Given the description of an element on the screen output the (x, y) to click on. 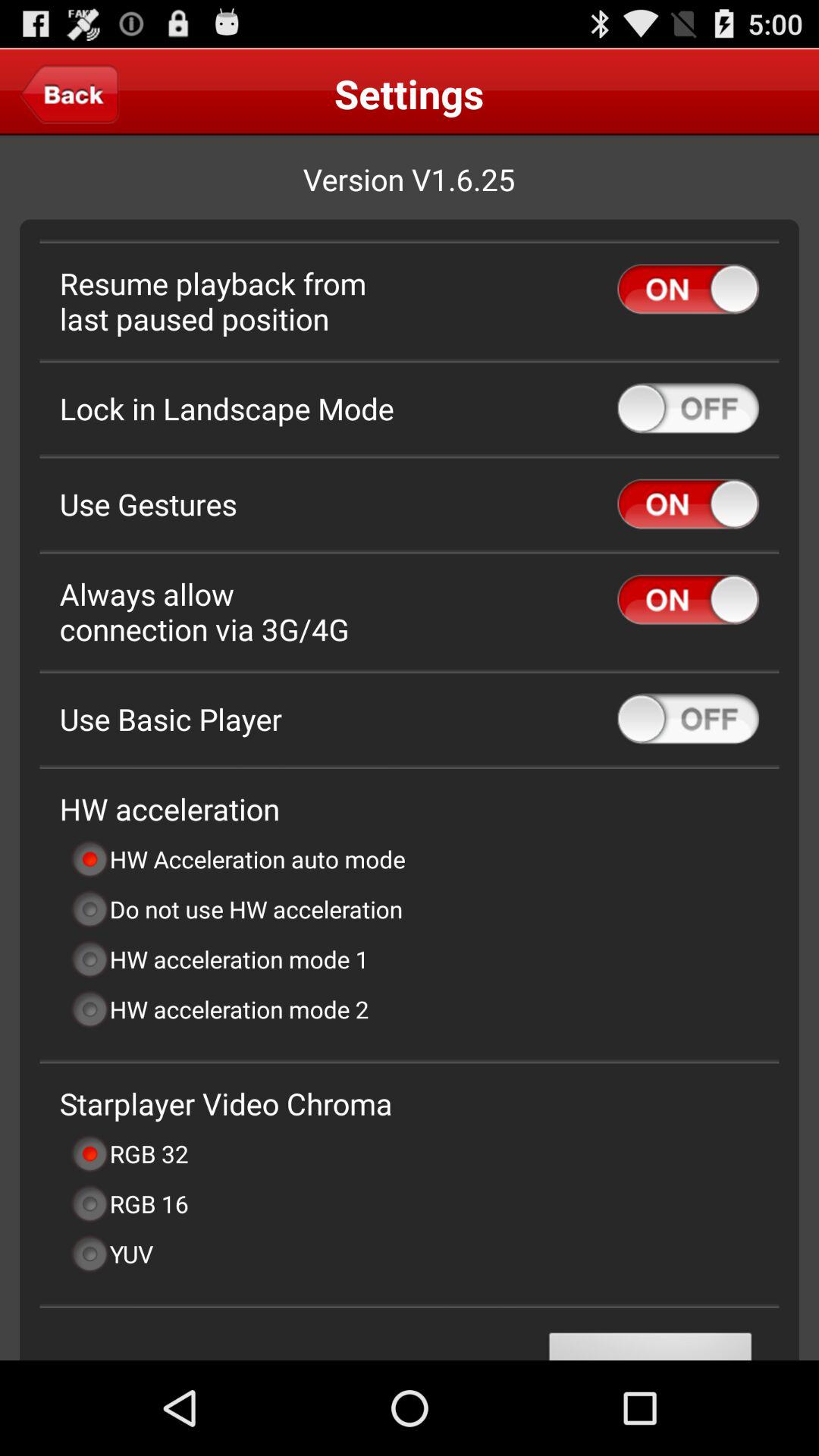
open the item below the rgb 16 radio button (111, 1254)
